Given the description of an element on the screen output the (x, y) to click on. 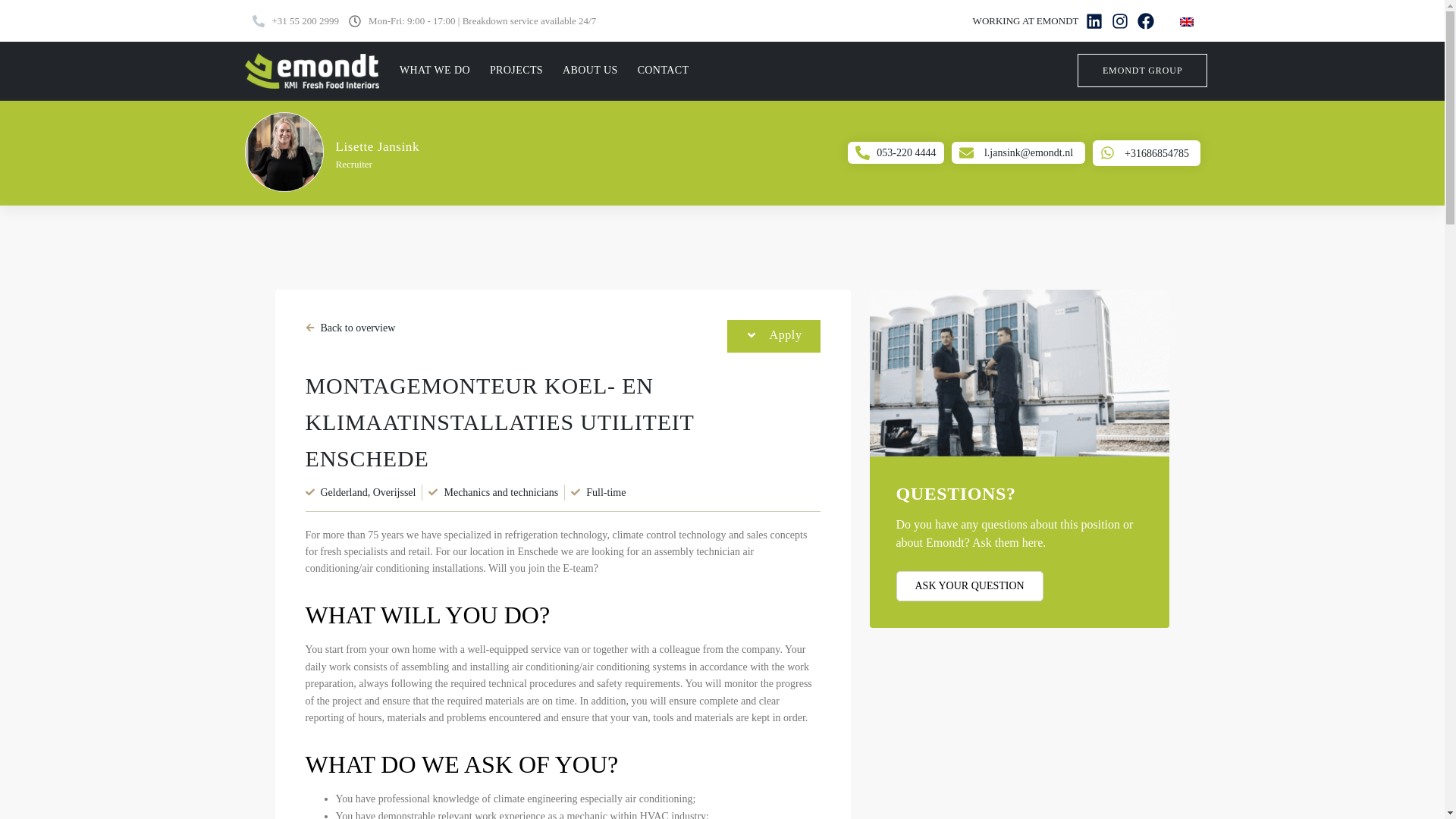
WHAT WE DO (434, 70)
ABOUT US (590, 70)
EMONDT GROUP (1142, 70)
WORKING AT EMONDT (1025, 20)
Apply (772, 336)
CONTACT (663, 70)
053-220 4444 (906, 152)
ASK YOUR QUESTION (969, 585)
PROJECTS (515, 70)
